Given the description of an element on the screen output the (x, y) to click on. 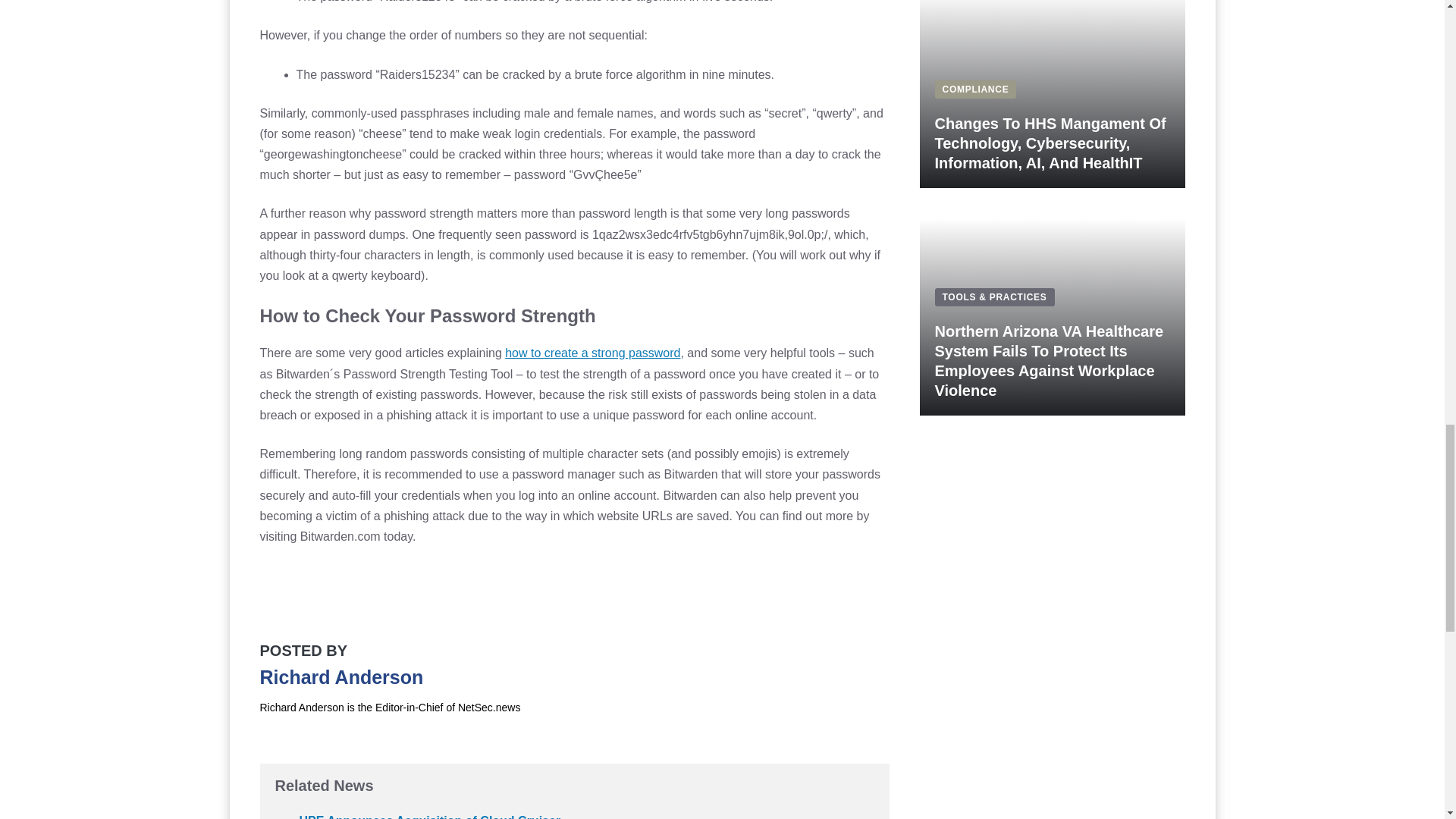
HPE Announces Acquisition of Cloud Cruiser (429, 816)
HPE Announces Acquisition of Cloud Cruiser (429, 816)
how to create a strong password (592, 352)
COMPLIANCE (975, 89)
Richard Anderson (341, 676)
